Given the description of an element on the screen output the (x, y) to click on. 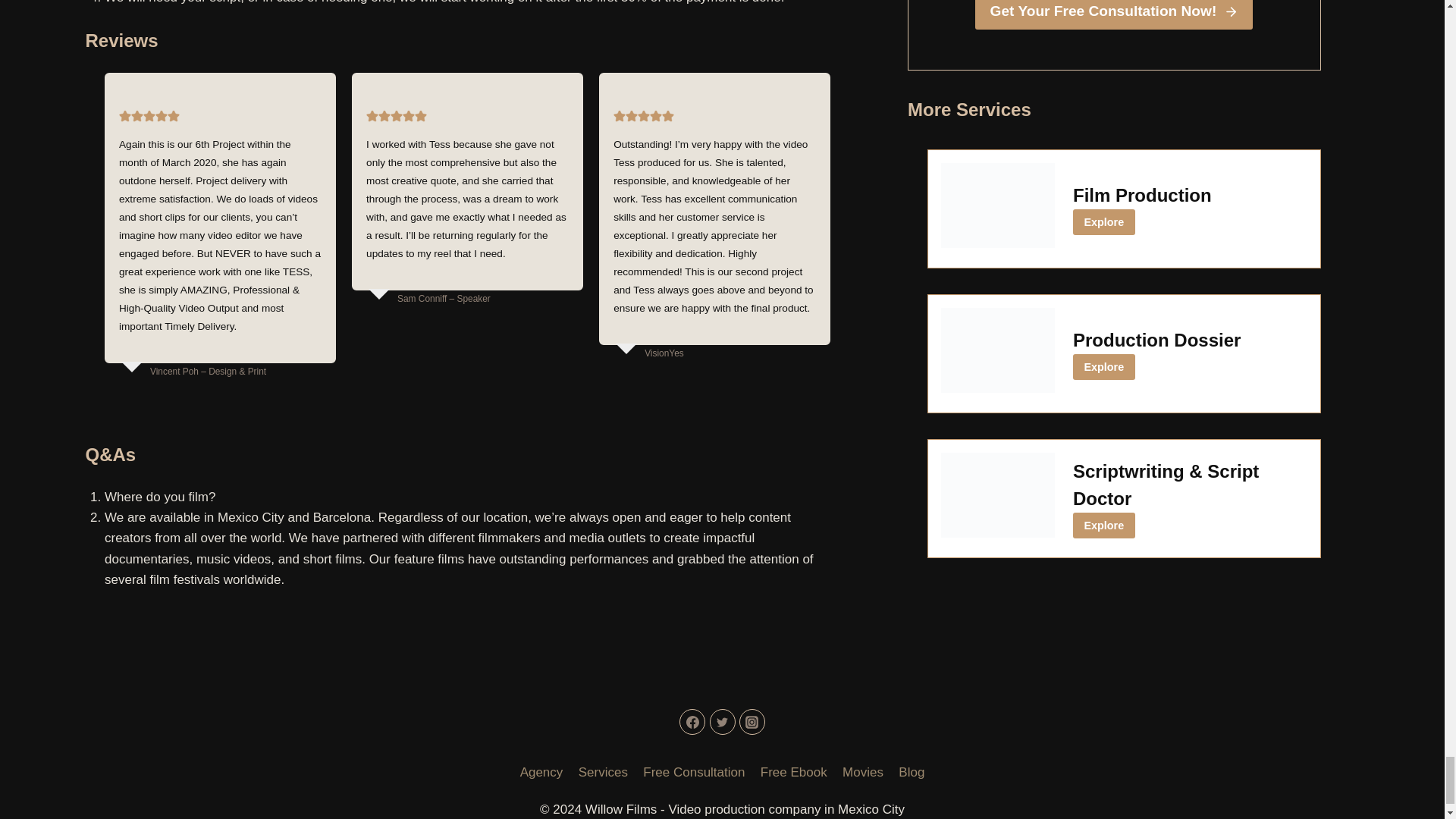
Free Ebook (793, 771)
Free Consultation (693, 771)
Movies (862, 771)
Agency (541, 771)
Services (603, 771)
